Given the description of an element on the screen output the (x, y) to click on. 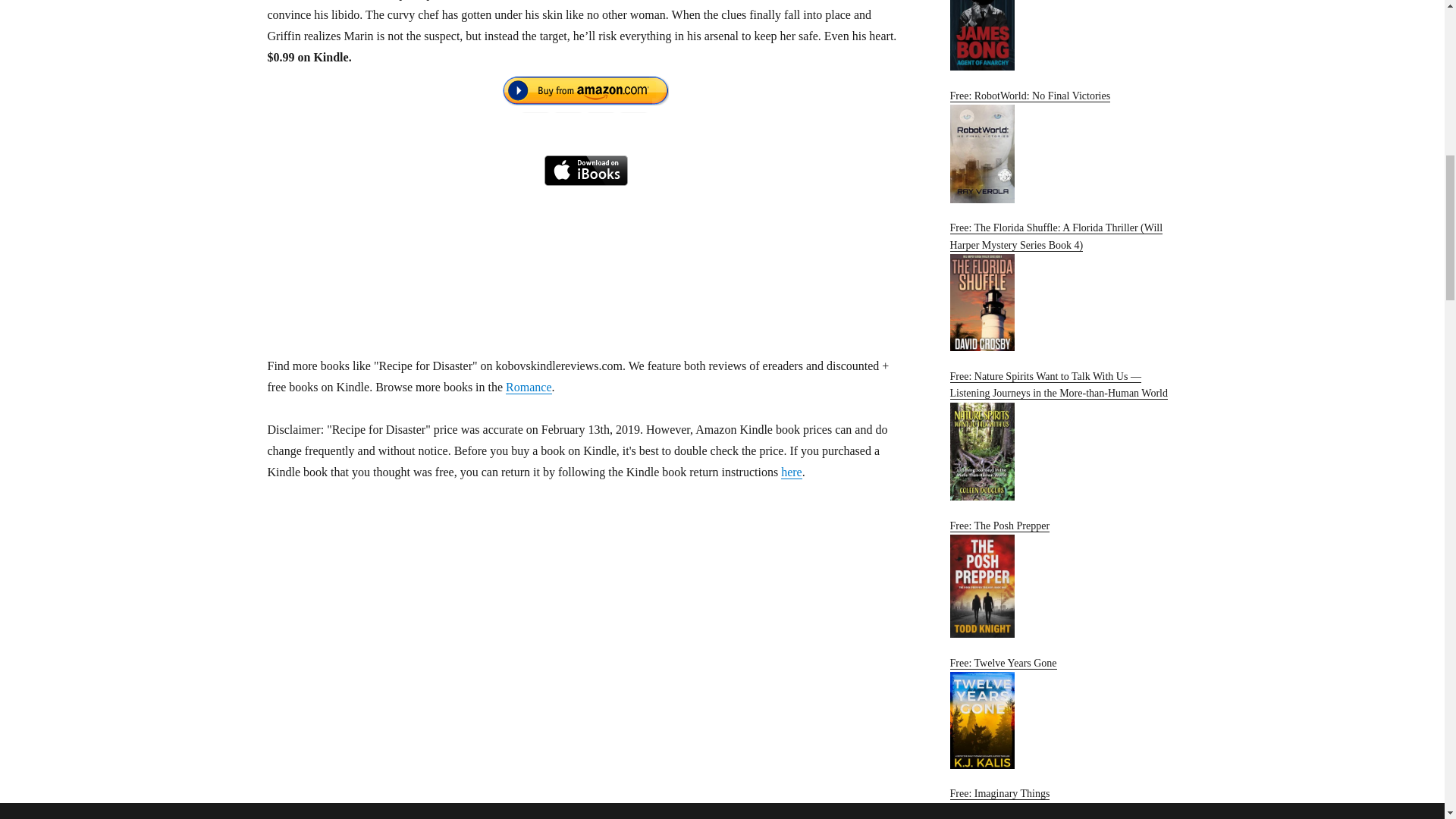
Romance (528, 386)
Free: RobotWorld: No Final Victories (1062, 146)
Free: Imaginary Things (1062, 803)
Free: Twelve Years Gone (1062, 713)
here (791, 472)
Free: The Posh Prepper (1062, 579)
